Given the description of an element on the screen output the (x, y) to click on. 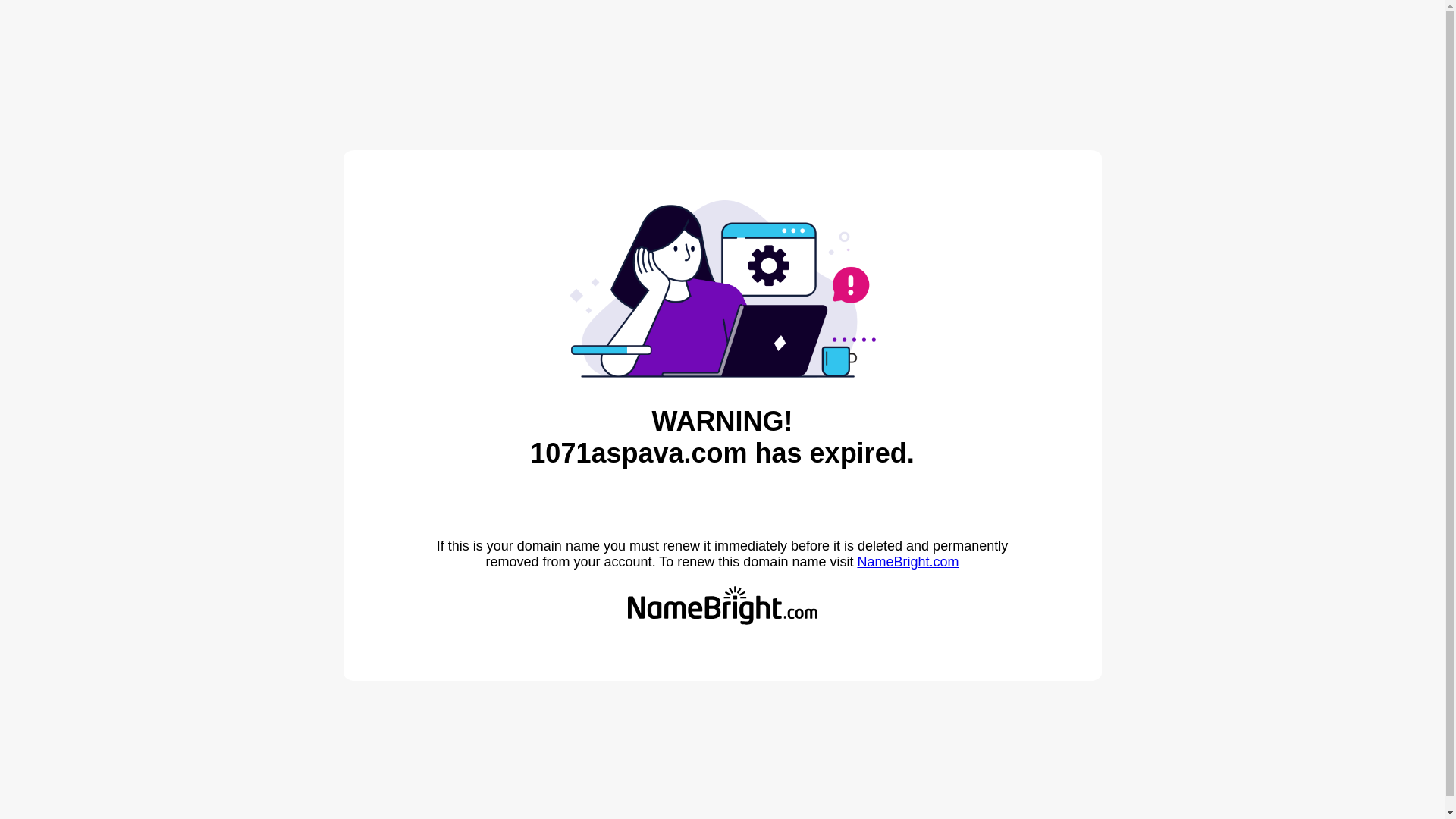
NameBright.com Element type: text (907, 561)
